Given the description of an element on the screen output the (x, y) to click on. 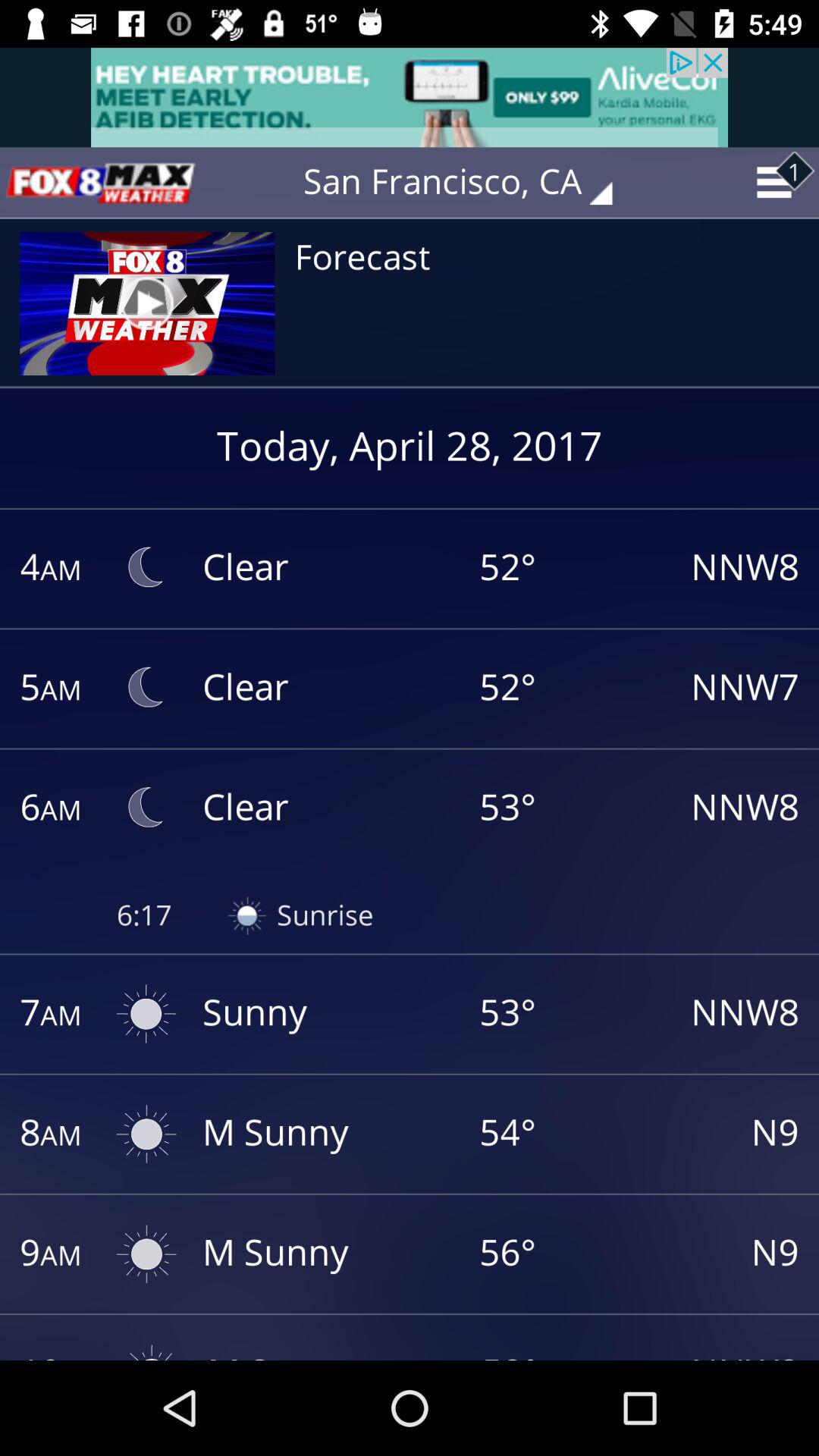
advertisement option (409, 97)
